Given the description of an element on the screen output the (x, y) to click on. 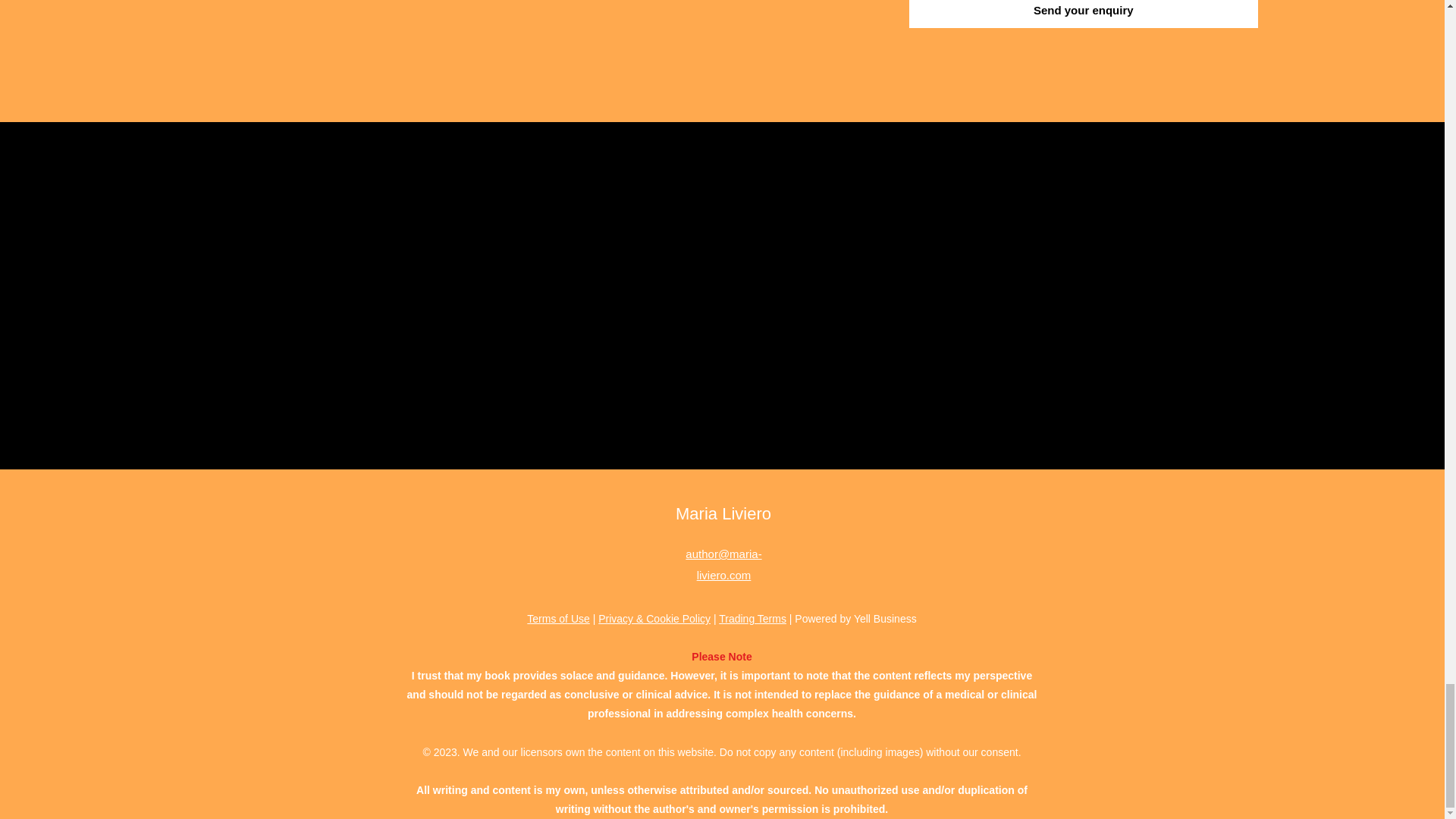
Terms of Use (558, 618)
Trading Terms (752, 618)
Send your enquiry (1082, 13)
Maria Liviero (723, 513)
